Given the description of an element on the screen output the (x, y) to click on. 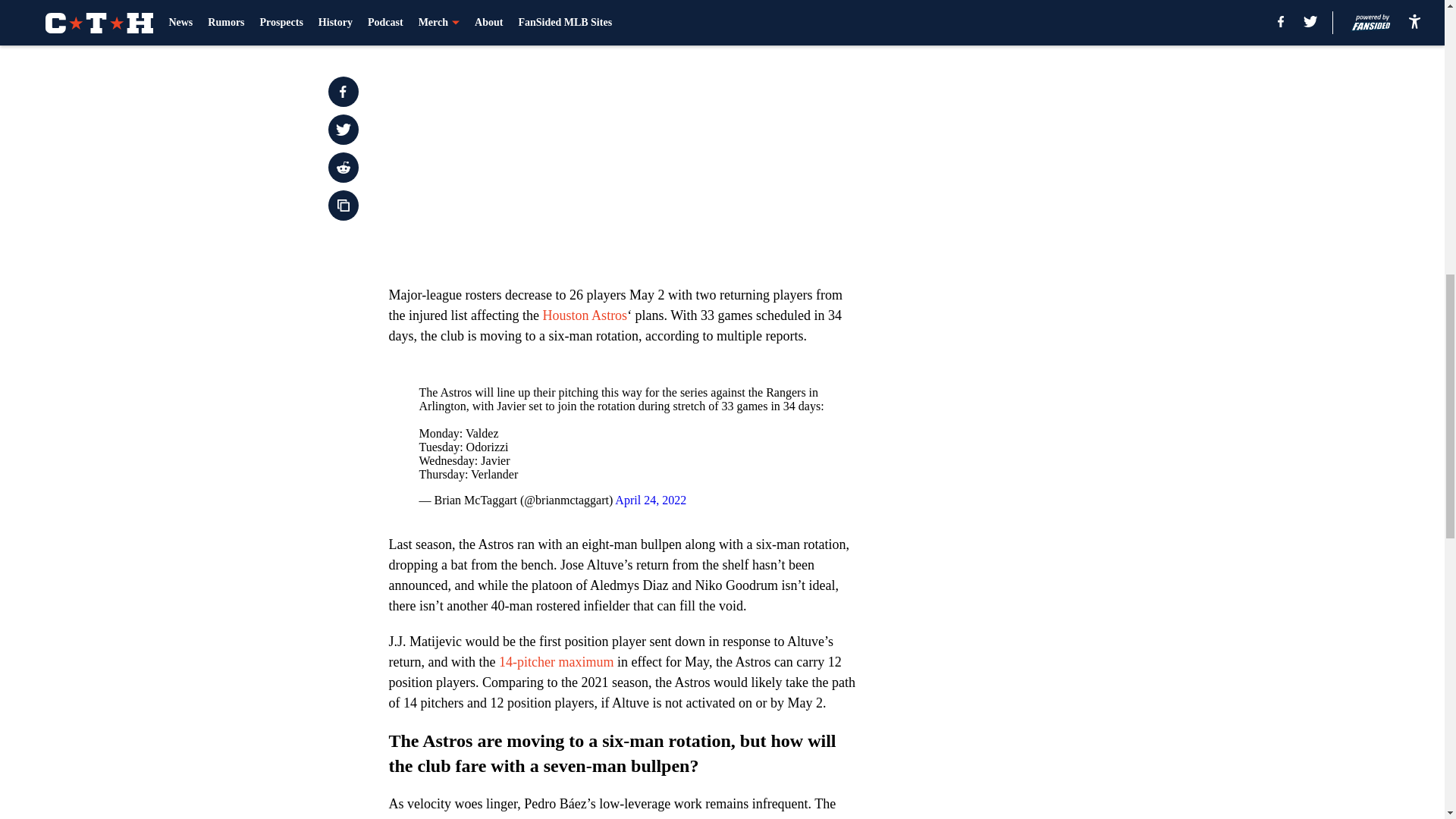
April 24, 2022 (649, 499)
Houston Astros (585, 314)
14-pitcher maximum (555, 661)
